Given the description of an element on the screen output the (x, y) to click on. 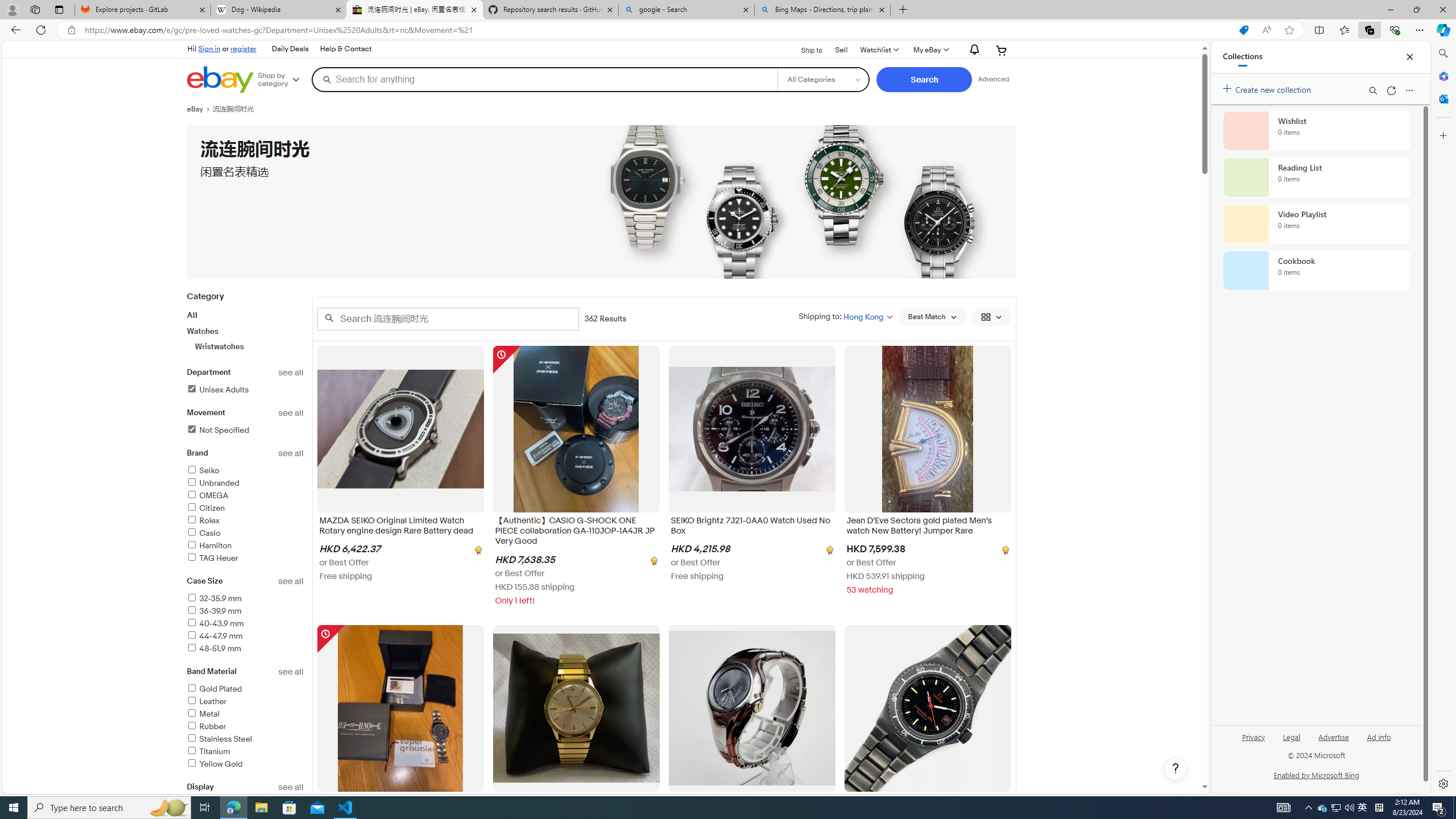
Leather (206, 700)
See all brand refinements (291, 452)
Ad info (1378, 736)
Notifications (971, 49)
Sell (841, 49)
Seiko (202, 470)
Legal (1291, 736)
Personal Profile (12, 9)
Gold Plated (245, 689)
App bar (728, 29)
